Given the description of an element on the screen output the (x, y) to click on. 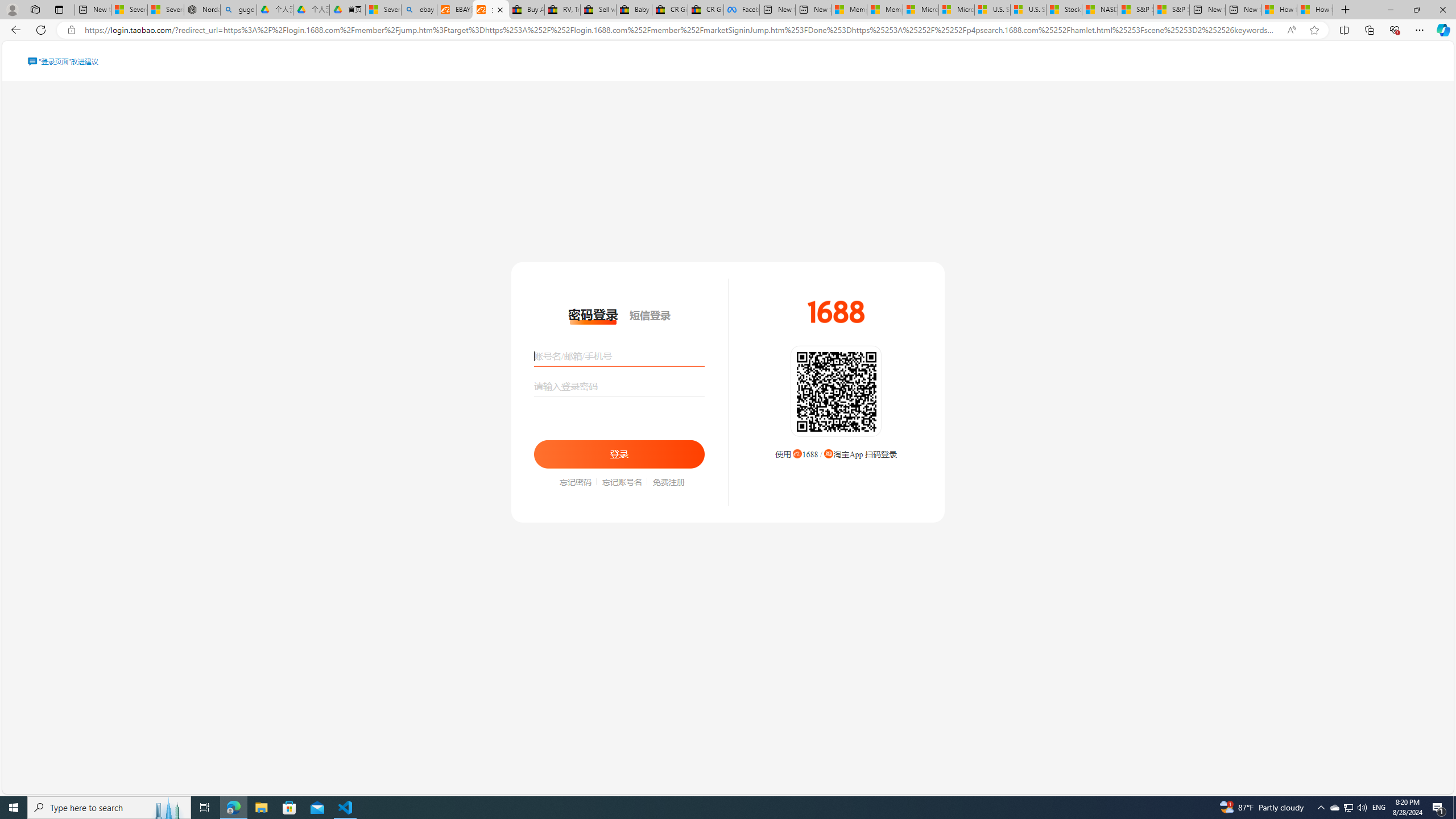
Minimize (1390, 9)
Workspaces (34, 9)
Add this page to favorites (Ctrl+D) (1314, 29)
To get missing image descriptions, open the context menu. (836, 311)
Restore (1416, 9)
Back (13, 29)
RV, Trailer & Camper Steps & Ladders for sale | eBay (562, 9)
